Given the description of an element on the screen output the (x, y) to click on. 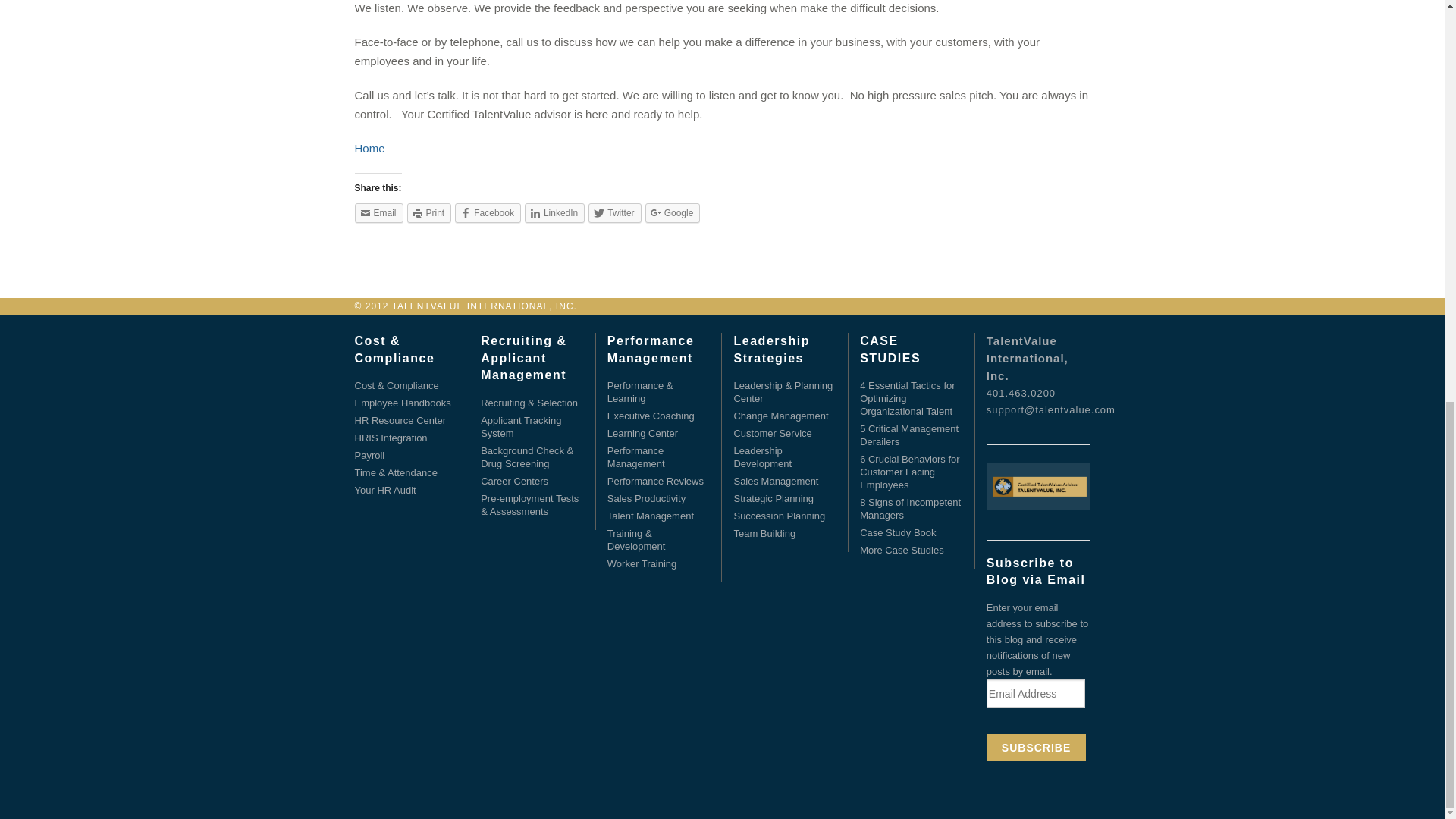
Click to email this to a friend (379, 212)
Home (370, 147)
Click to share on Twitter (614, 212)
Click to print (429, 212)
Click to share on Facebook (487, 212)
Subscribe (1036, 747)
Click to share on LinkedIn (554, 212)
